Given the description of an element on the screen output the (x, y) to click on. 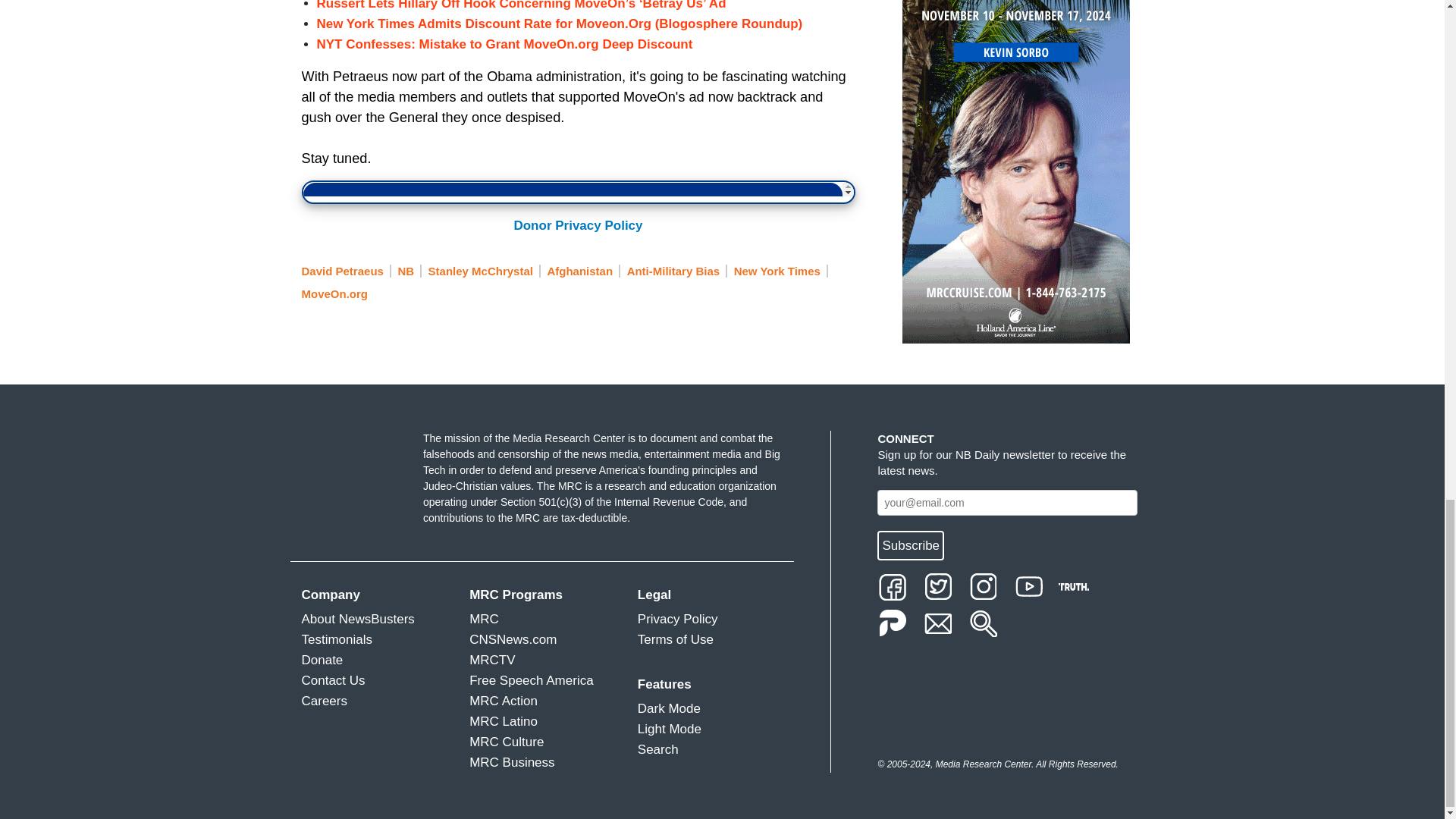
Giving Form (577, 189)
